Given the description of an element on the screen output the (x, y) to click on. 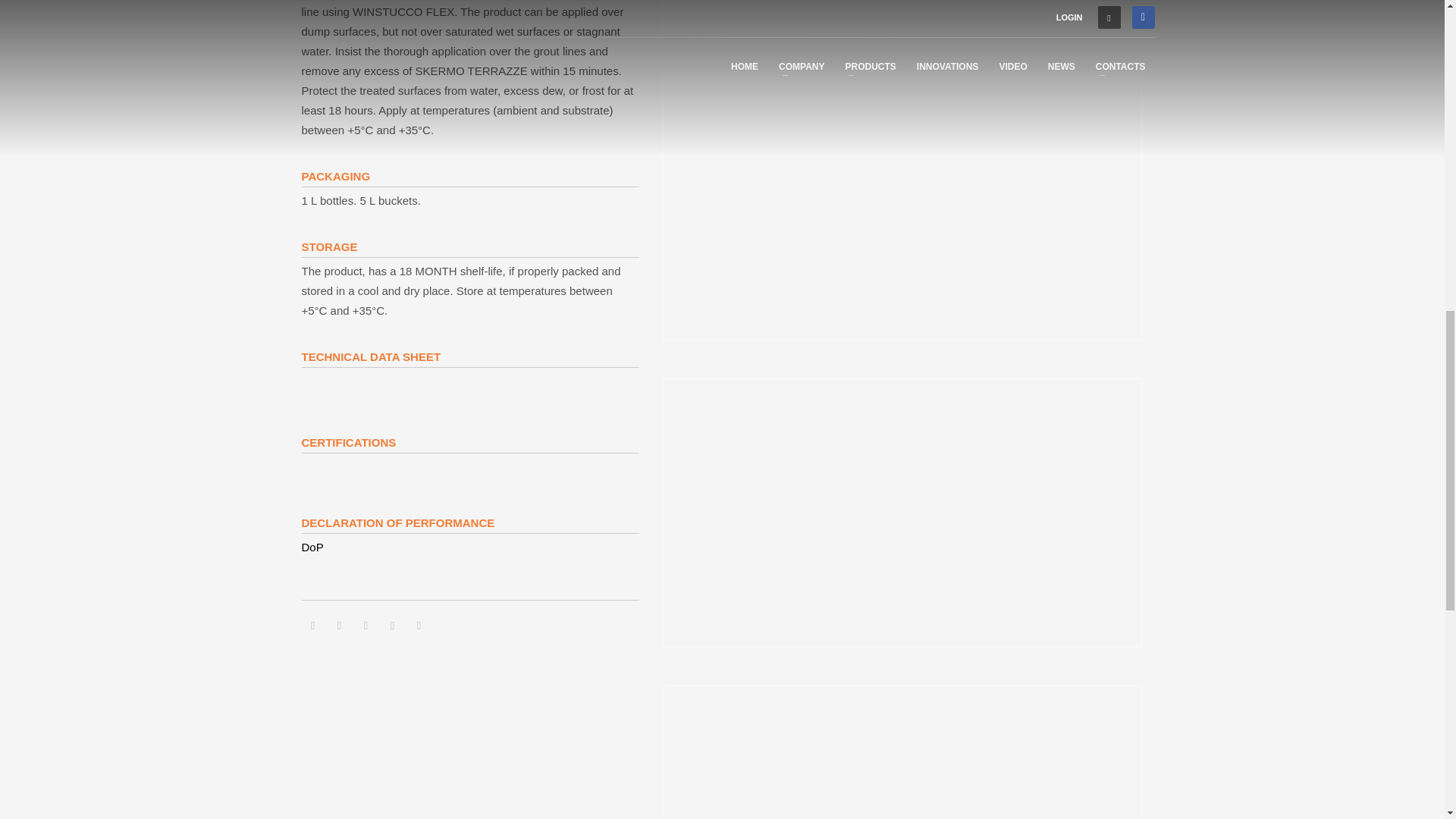
SHARE ON PINTEREST (391, 625)
SHARE ON TWITTER (312, 625)
SHARE ON FACEBOOK (338, 625)
SHARE ON MAIL (418, 625)
SHARE ON GPLUS (366, 625)
